Given the description of an element on the screen output the (x, y) to click on. 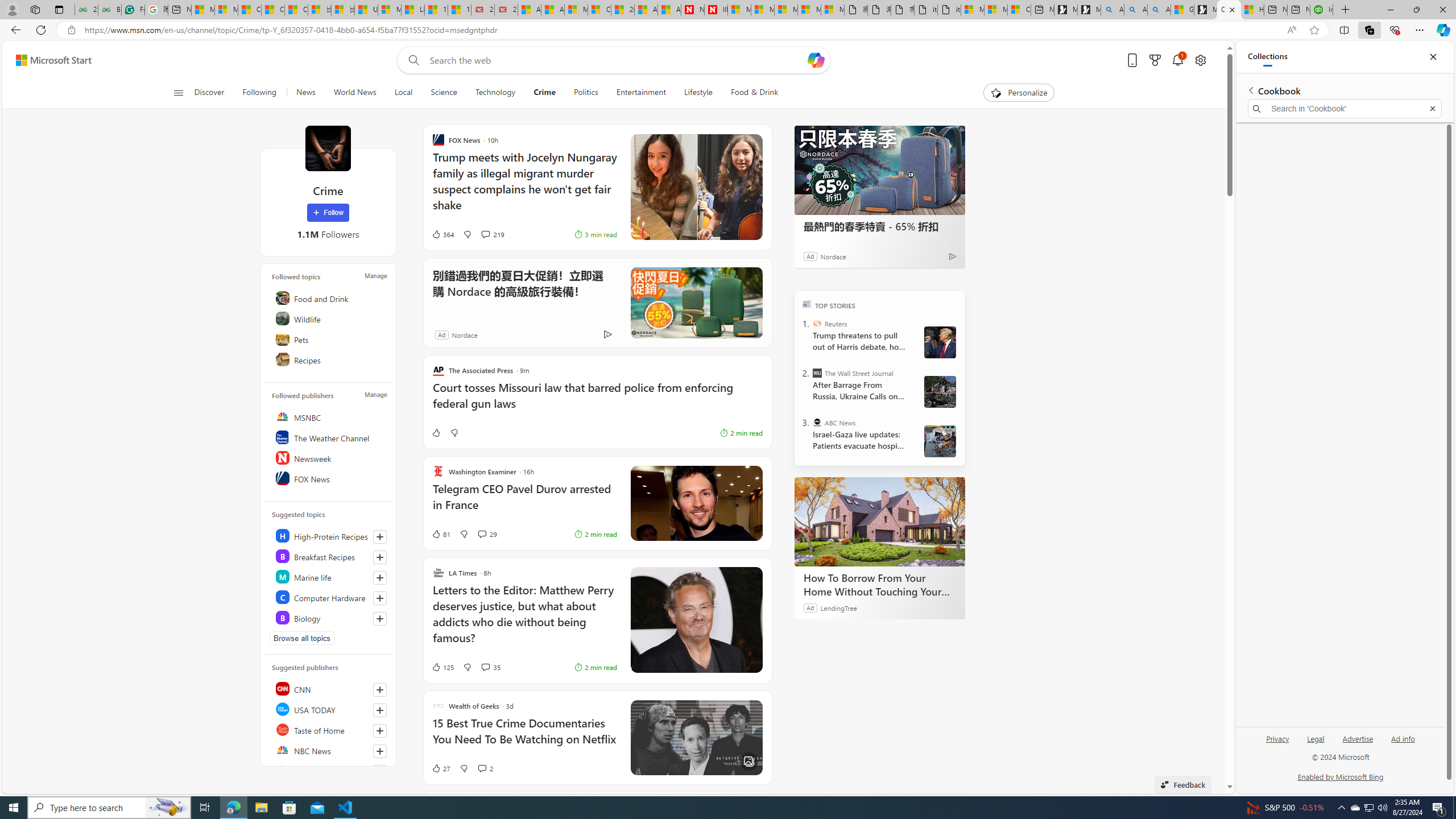
Browse all topics (301, 638)
Pets (328, 339)
View comments 35 Comment (490, 667)
